Given the description of an element on the screen output the (x, y) to click on. 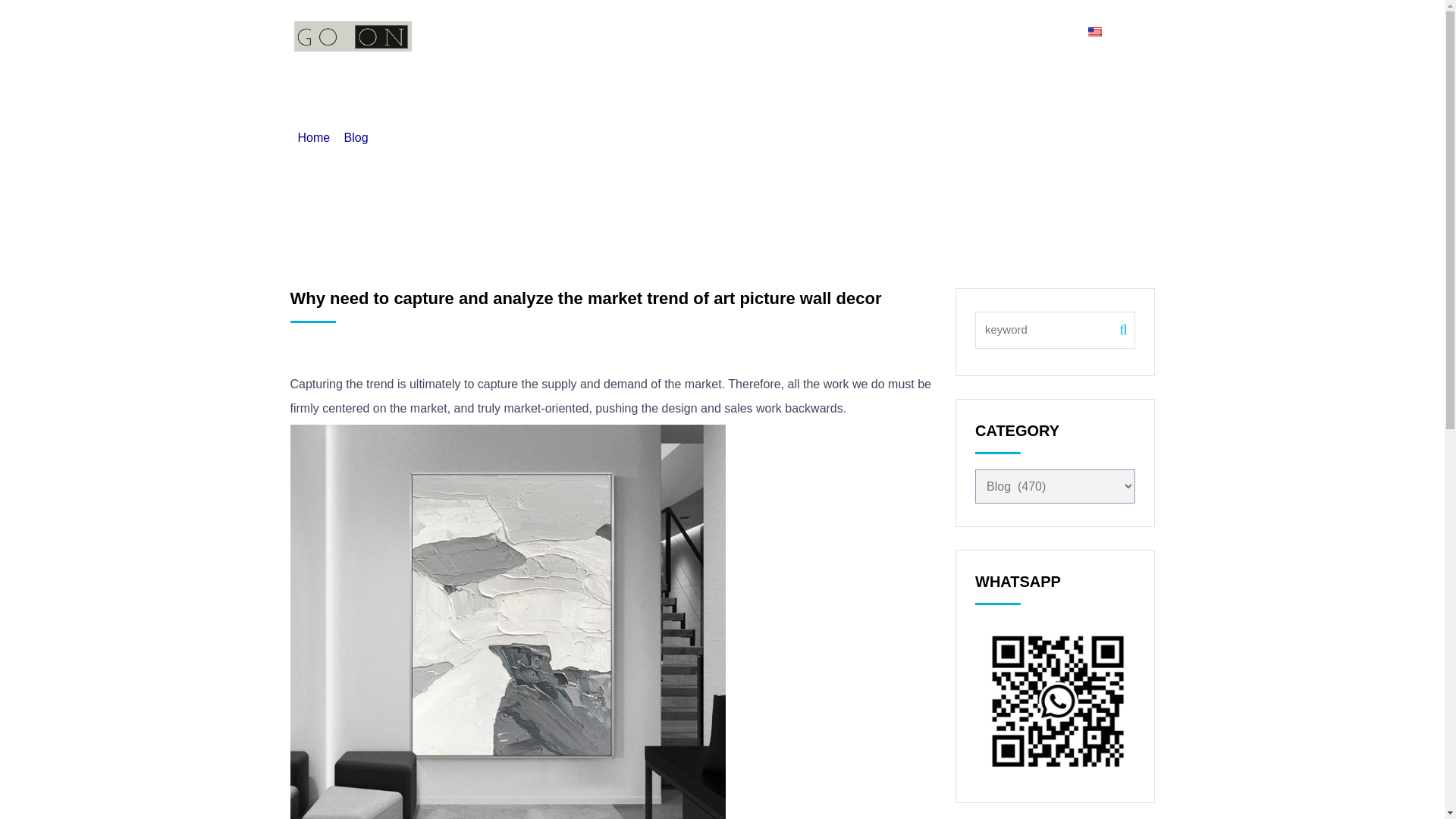
About Us (720, 31)
English (1120, 31)
Products (806, 31)
Blog (975, 31)
Contact Us (897, 31)
Search (1039, 31)
English (1109, 31)
